Given the description of an element on the screen output the (x, y) to click on. 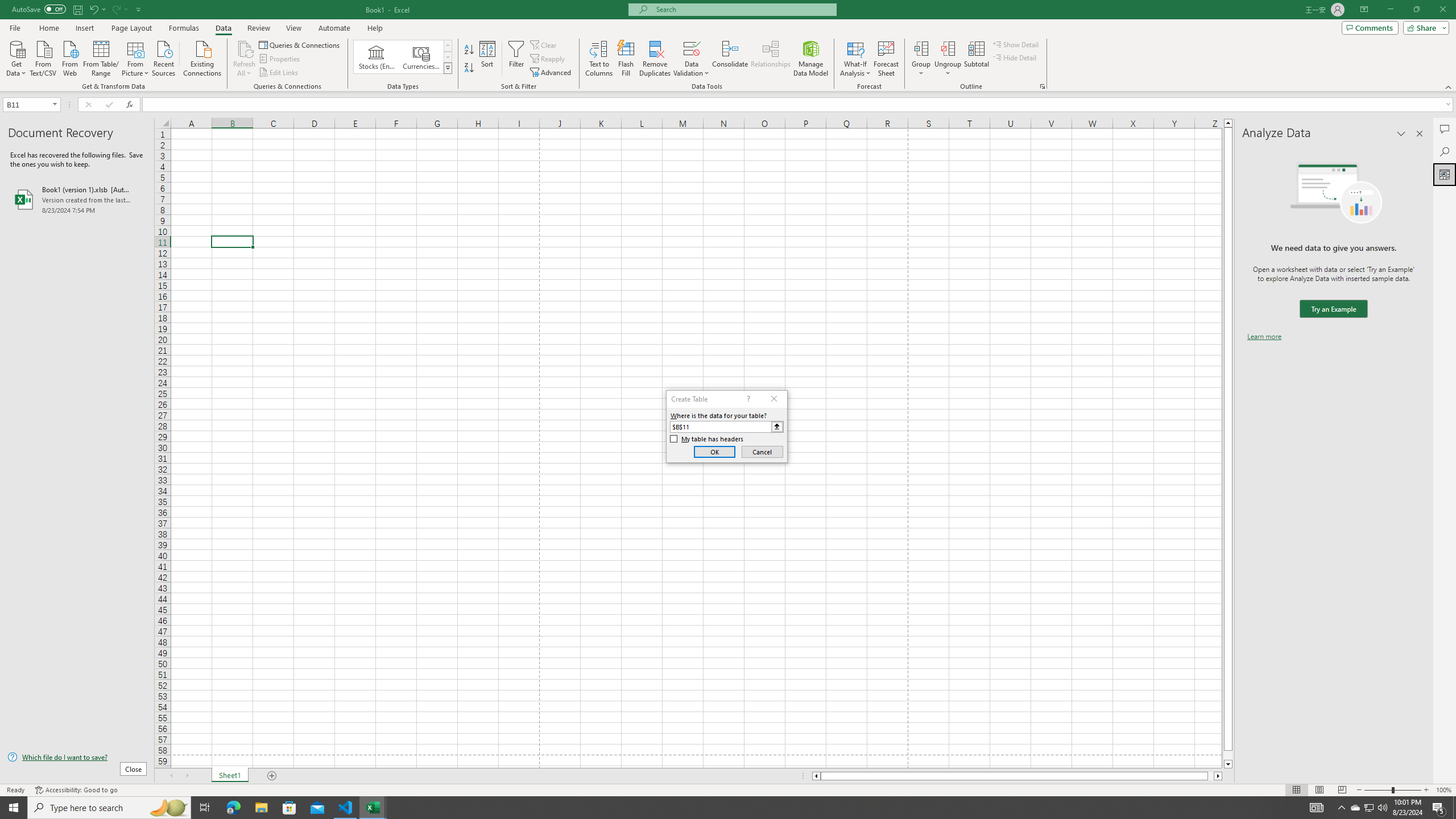
Sort Z to A (469, 67)
Class: NetUIImage (447, 68)
Get Data (16, 57)
Row up (448, 45)
Automate (334, 28)
From Picture (135, 57)
